Given the description of an element on the screen output the (x, y) to click on. 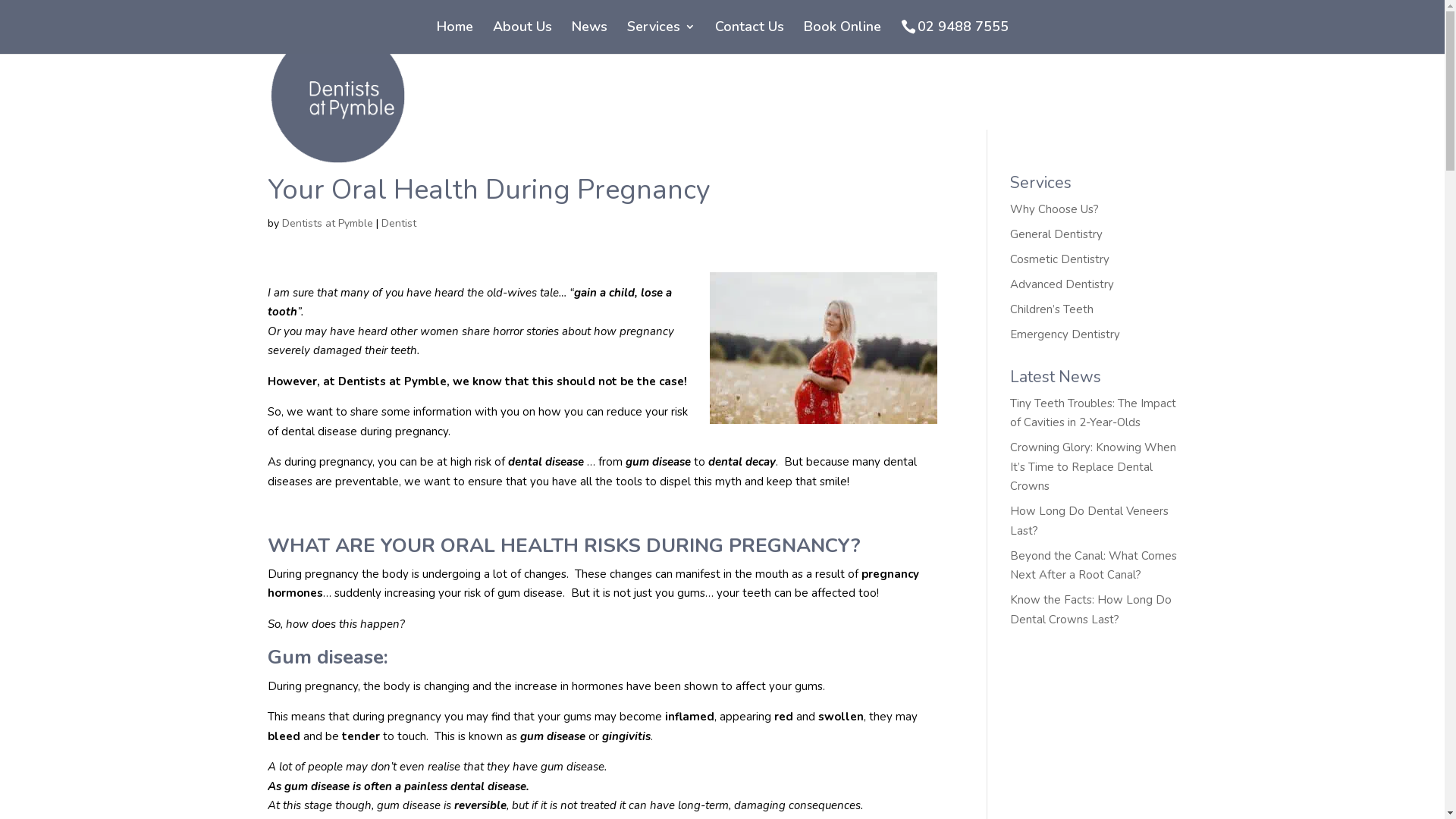
Cosmetic Dentistry Element type: text (1059, 258)
Know the Facts: How Long Do Dental Crowns Last? Element type: text (1090, 609)
Dentist Element type: text (397, 223)
Dentists at Pymble Element type: text (327, 223)
General Dentistry Element type: text (1056, 233)
How Long Do Dental Veneers Last? Element type: text (1089, 520)
Advanced Dentistry Element type: text (1061, 283)
Home Element type: text (454, 36)
Beyond the Canal: What Comes Next After a Root Canal? Element type: text (1093, 565)
About Us Element type: text (522, 36)
Services Element type: text (660, 36)
Tiny Teeth Troubles: The Impact of Cavities in 2-Year-Olds Element type: text (1093, 412)
News Element type: text (589, 36)
Emergency Dentistry Element type: text (1065, 334)
Book Online Element type: text (842, 36)
Contact Us Element type: text (748, 36)
Why Choose Us? Element type: text (1054, 208)
02 9488 7555 Element type: text (962, 35)
